Given the description of an element on the screen output the (x, y) to click on. 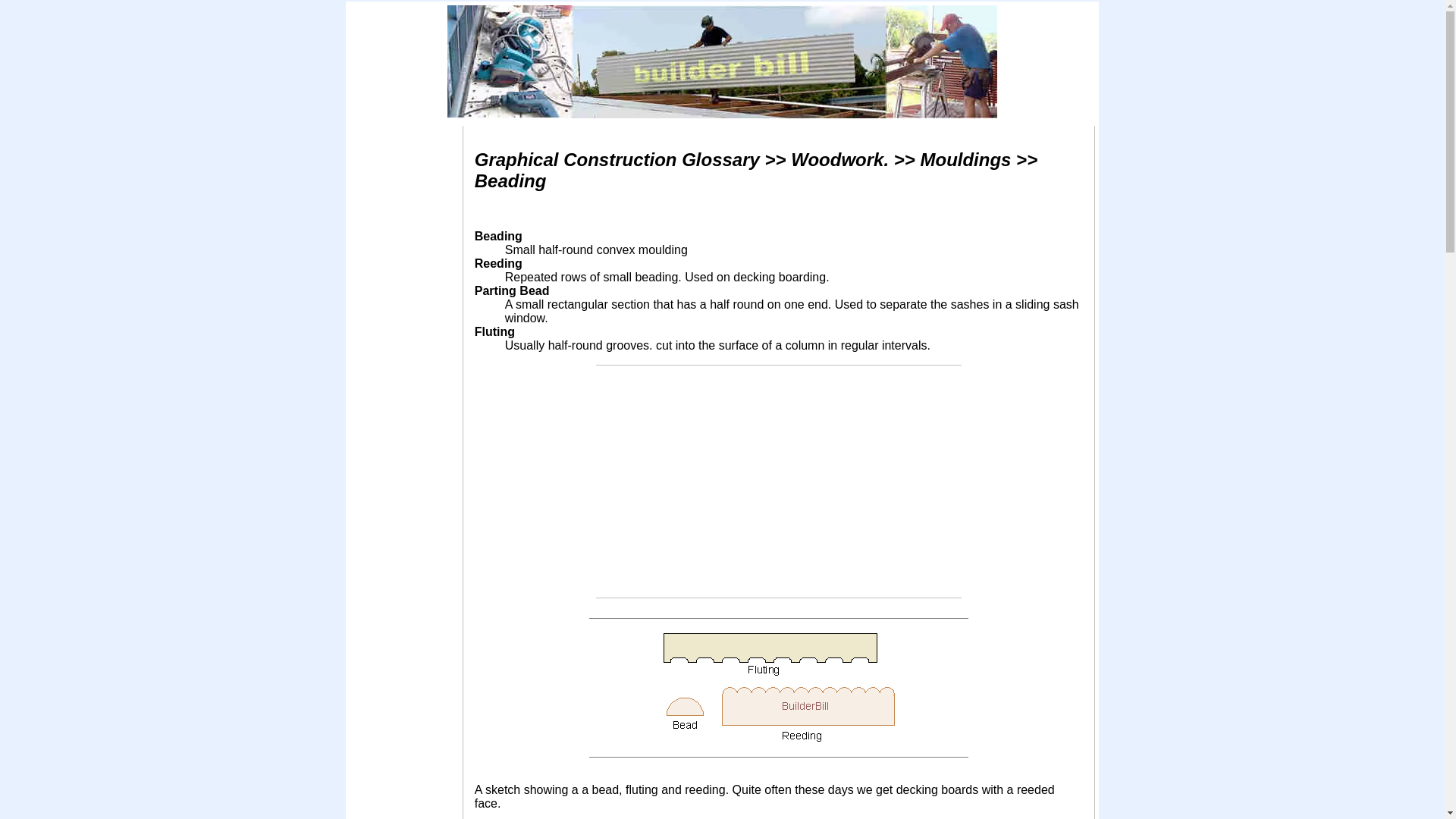
Advertisement (777, 481)
